Given the description of an element on the screen output the (x, y) to click on. 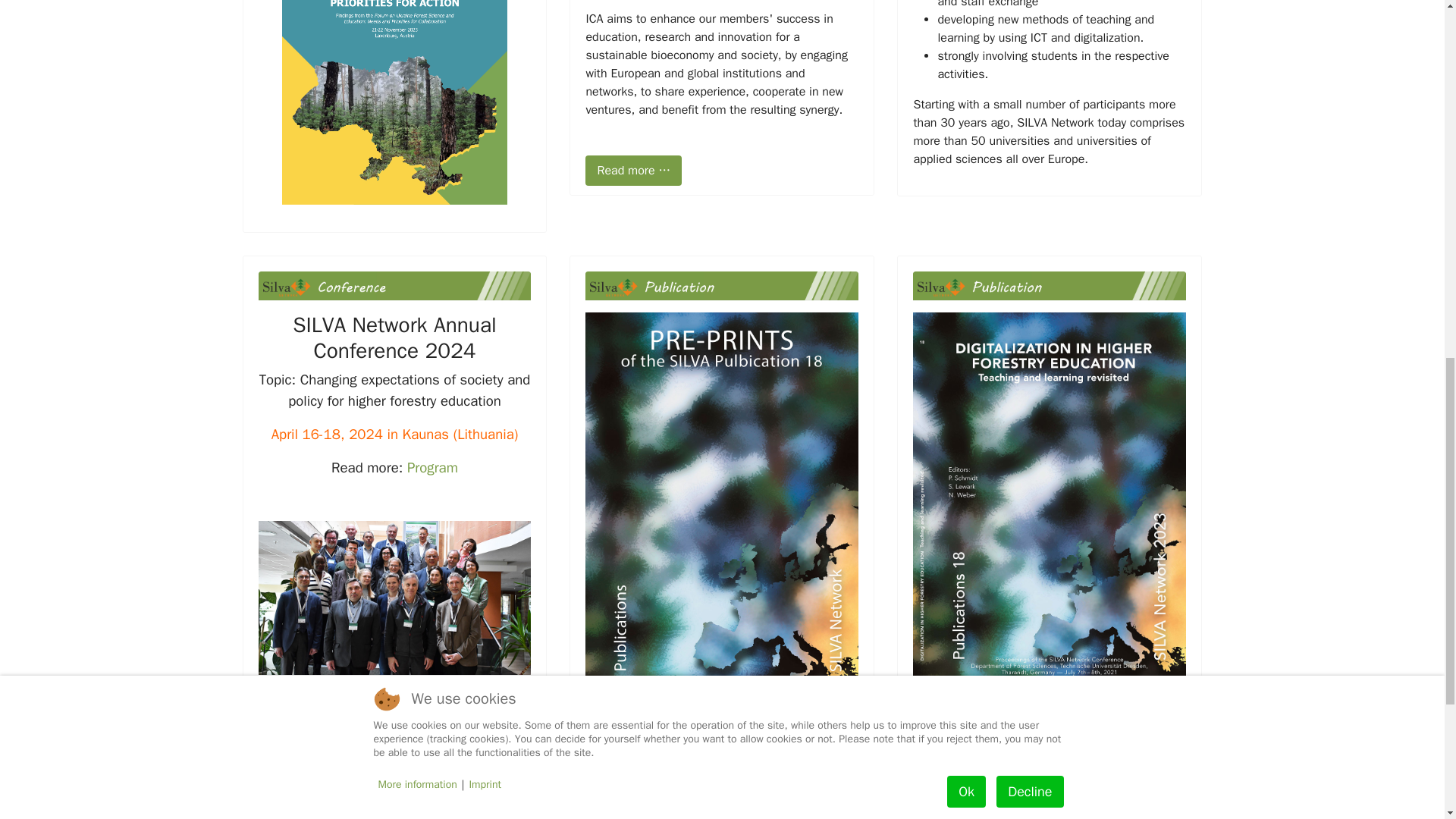
Read more: (954, 716)
Program (432, 467)
